Given the description of an element on the screen output the (x, y) to click on. 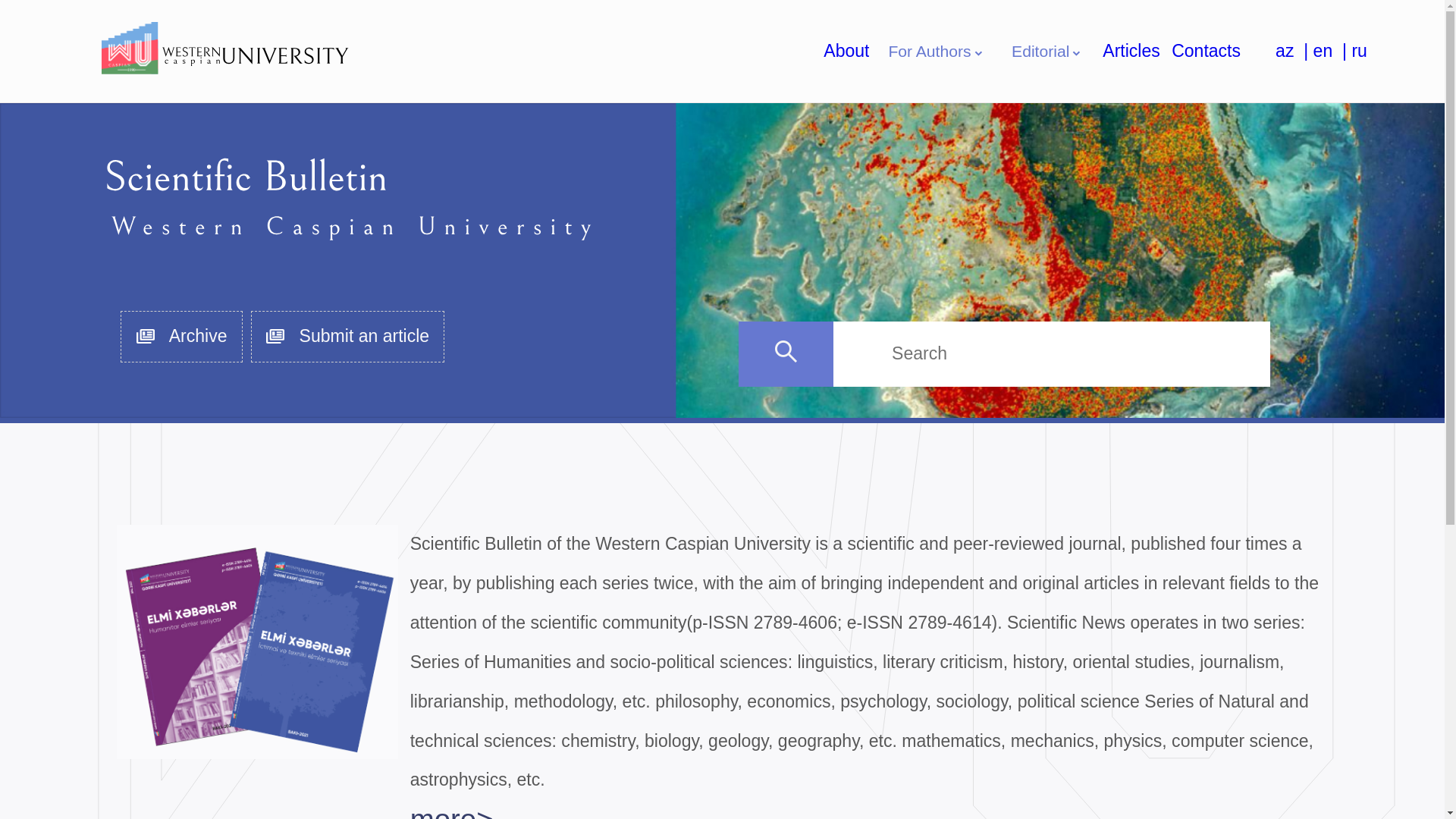
en  |  Element type: text (1332, 50)
Submit an article Element type: text (347, 335)
Editorial Element type: text (1047, 51)
Articles Element type: text (1131, 50)
Contacts Element type: text (1205, 50)
ru Element type: text (1358, 50)
Archive Element type: text (180, 335)
az  |  Element type: text (1294, 50)
For Authors Element type: text (936, 51)
About Element type: text (846, 50)
